Given the description of an element on the screen output the (x, y) to click on. 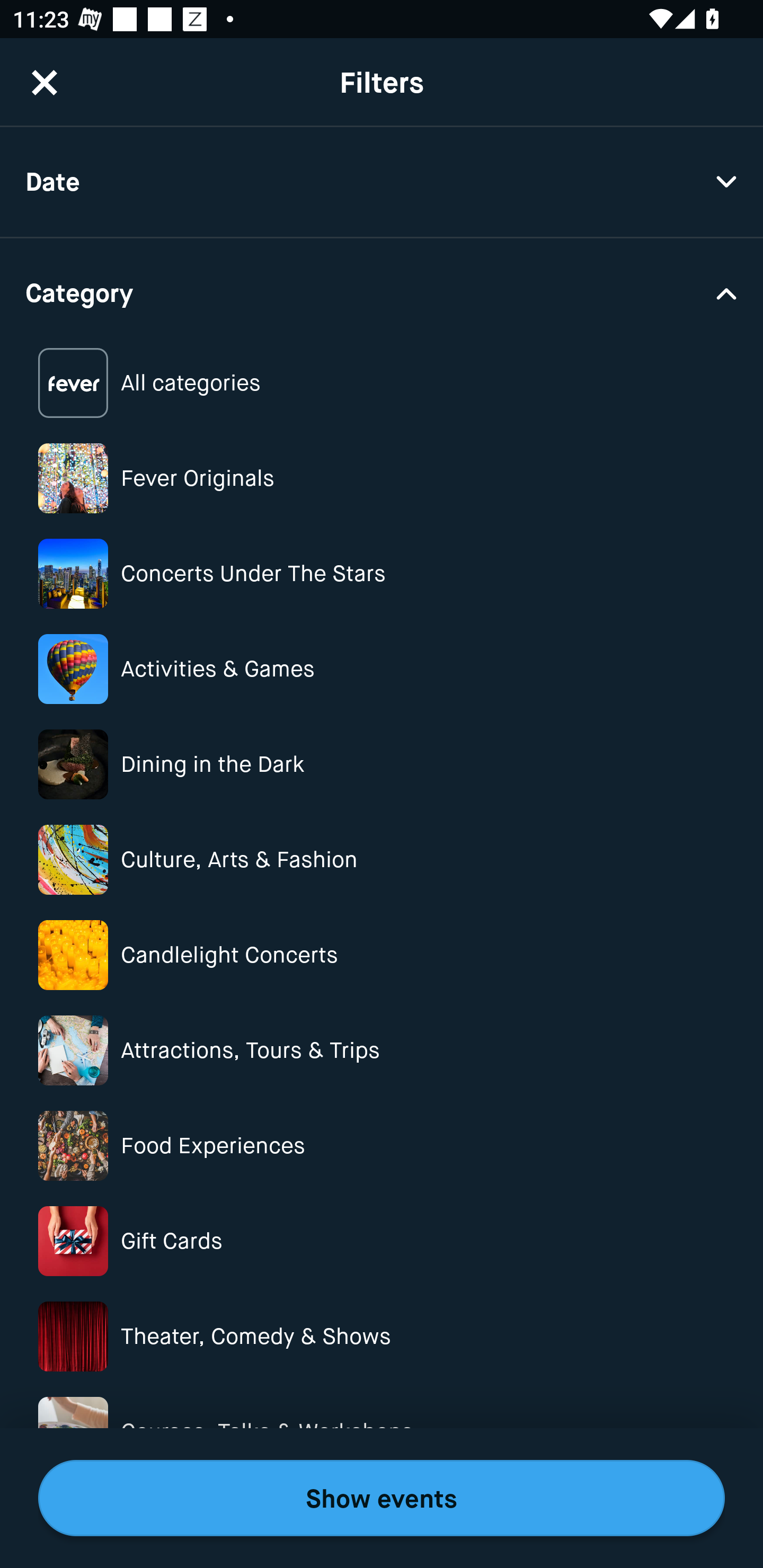
CloseButton (44, 82)
Date Drop Down Arrow (381, 182)
Category Drop Down Arrow (381, 291)
Category Image All categories (381, 382)
Category Image Fever Originals (381, 477)
Category Image Concerts Under The Stars (381, 573)
Category Image Activities & Games (381, 668)
Category Image Dining in the Dark (381, 763)
Category Image Culture, Arts & Fashion (381, 859)
Category Image Candlelight Concerts (381, 954)
Category Image Attractions, Tours & Trips (381, 1050)
Category Image Food Experiences (381, 1145)
Category Image Gift Cards (381, 1240)
Category Image Theater, Comedy & Shows (381, 1336)
Show events (381, 1497)
